Given the description of an element on the screen output the (x, y) to click on. 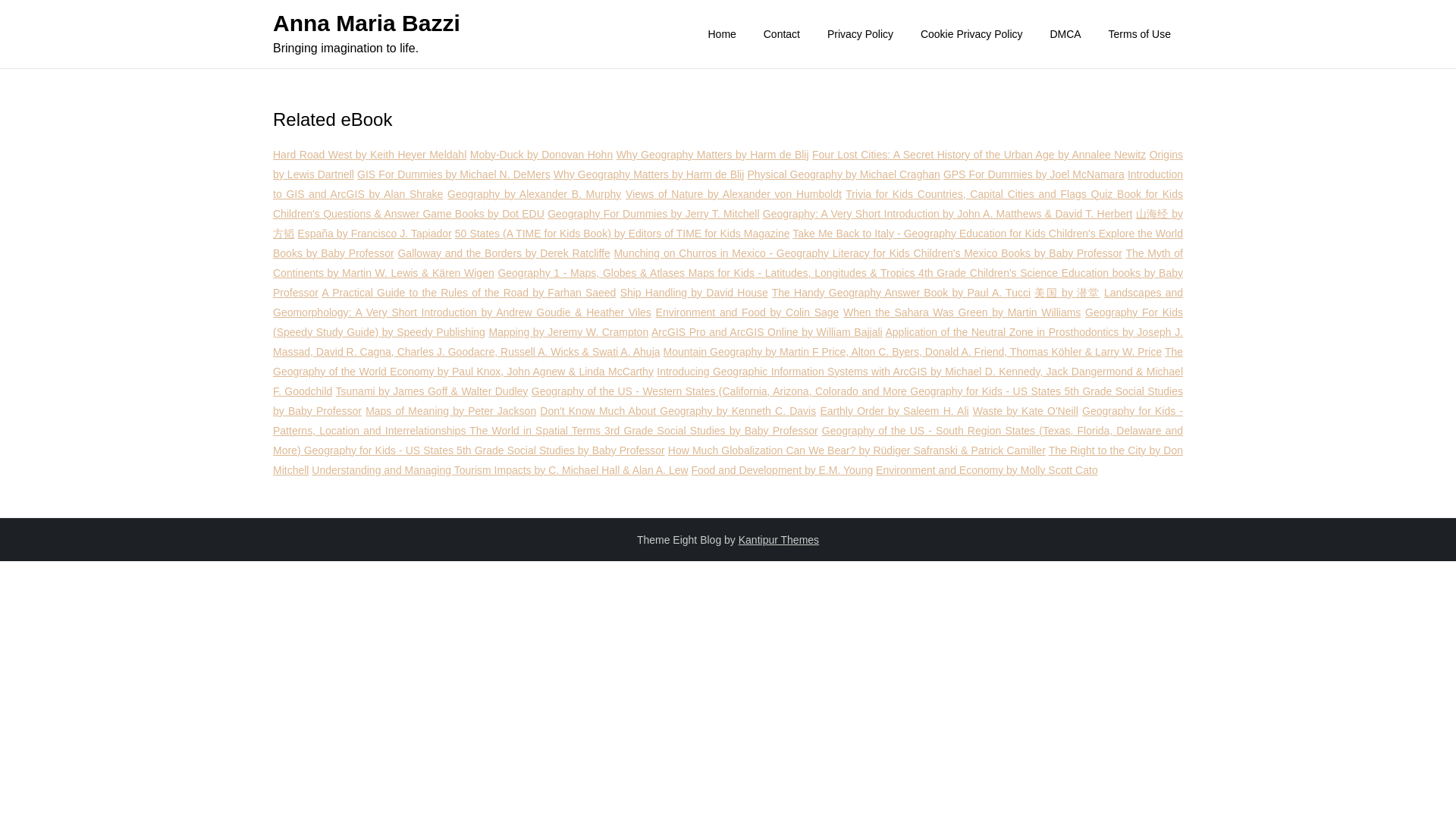
Ship Handling by David House (694, 292)
Moby-Duck by Donovan Hohn (541, 154)
Views of Nature by Alexander von Humboldt (733, 193)
Home (721, 33)
A Practical Guide to the Rules of the Road by Farhan Saeed (468, 292)
Contact (781, 33)
GIS For Dummies by Michael N. DeMers (453, 174)
Why Geography Matters by Harm de Blij (712, 154)
Hard Road West by Keith Heyer Meldahl (369, 154)
Cookie Privacy Policy (971, 33)
When the Sahara Was Green by Martin Williams (961, 312)
Geography by Alexander B. Murphy (533, 193)
Terms of Use (1139, 33)
